Given the description of an element on the screen output the (x, y) to click on. 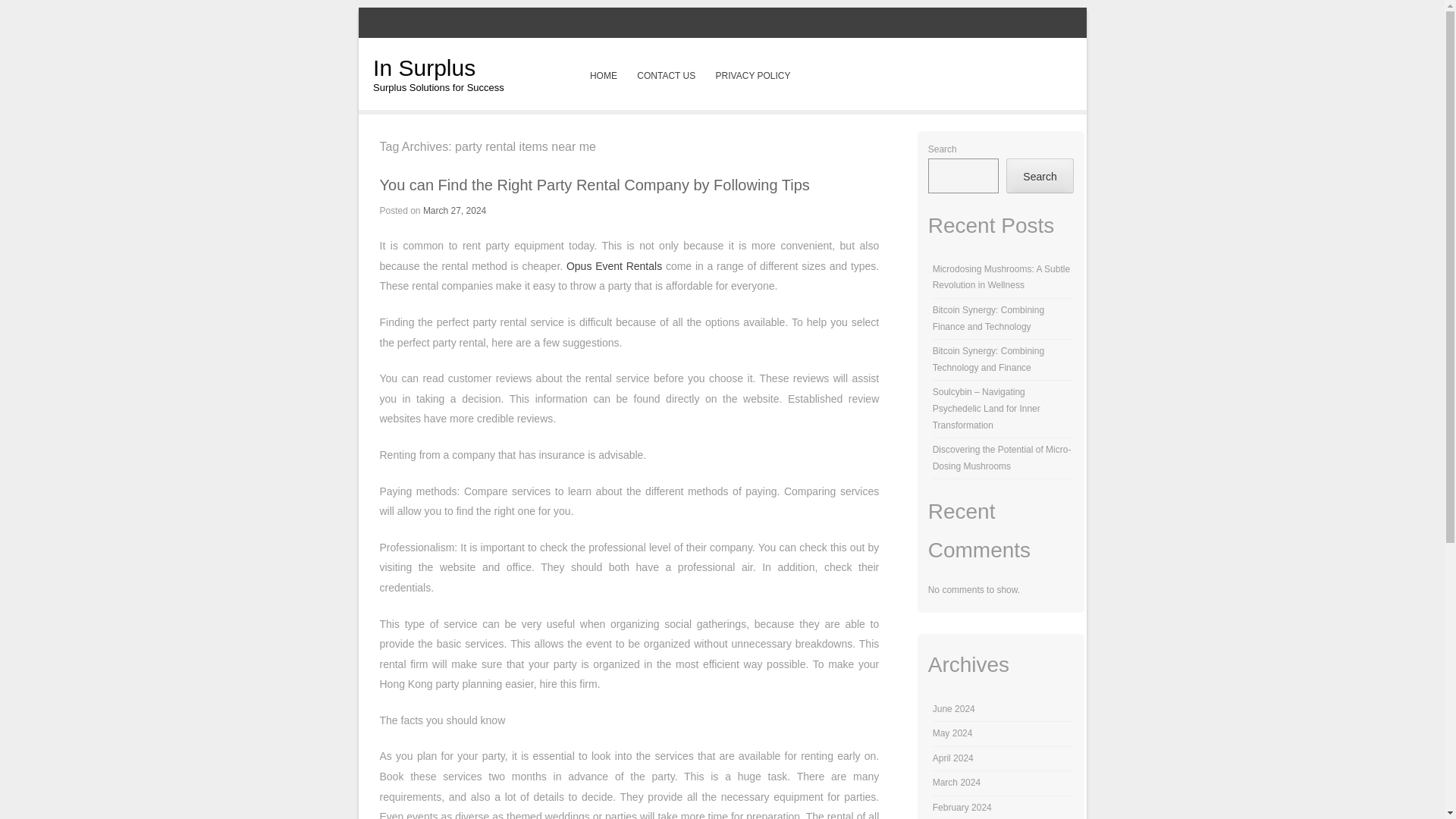
February 2024 (962, 807)
SKIP TO CONTENT (630, 75)
Bitcoin Synergy: Combining Finance and Technology (988, 318)
Microdosing Mushrooms: A Subtle Revolution in Wellness (1001, 277)
In Surplus (424, 67)
Discovering the Potential of Micro-Dosing Mushrooms (1002, 457)
9:04 am (454, 210)
In Surplus (424, 67)
April 2024 (953, 757)
Search (1039, 175)
PRIVACY POLICY (752, 75)
Opus Event Rentals (614, 265)
Bitcoin Synergy: Combining Technology and Finance (988, 359)
